Given the description of an element on the screen output the (x, y) to click on. 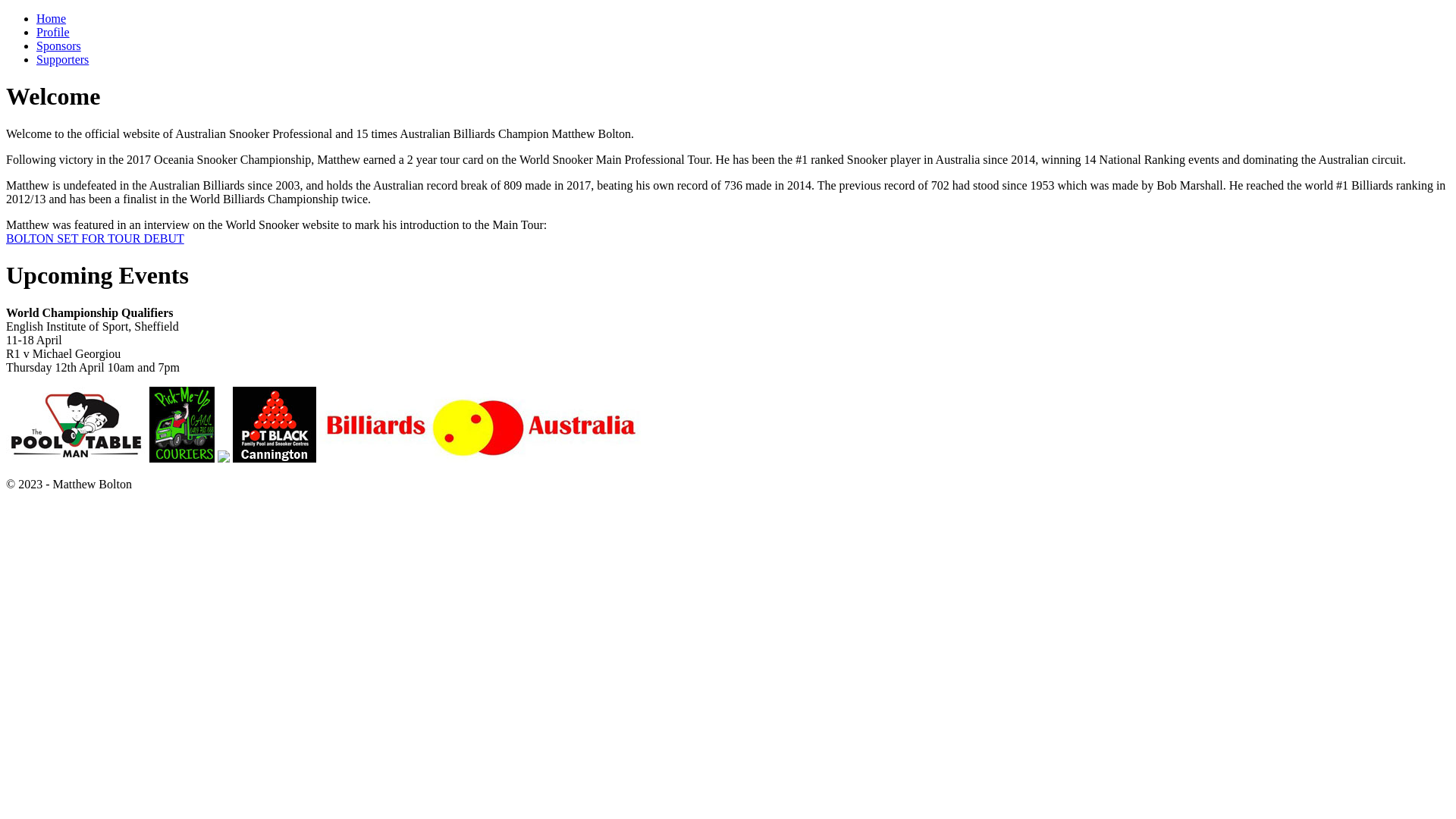
Supporters Element type: text (62, 59)
Profile Element type: text (52, 31)
Home Element type: text (50, 18)
BOLTON SET FOR TOUR DEBUT Element type: text (95, 238)
Sponsors Element type: text (58, 45)
